Given the description of an element on the screen output the (x, y) to click on. 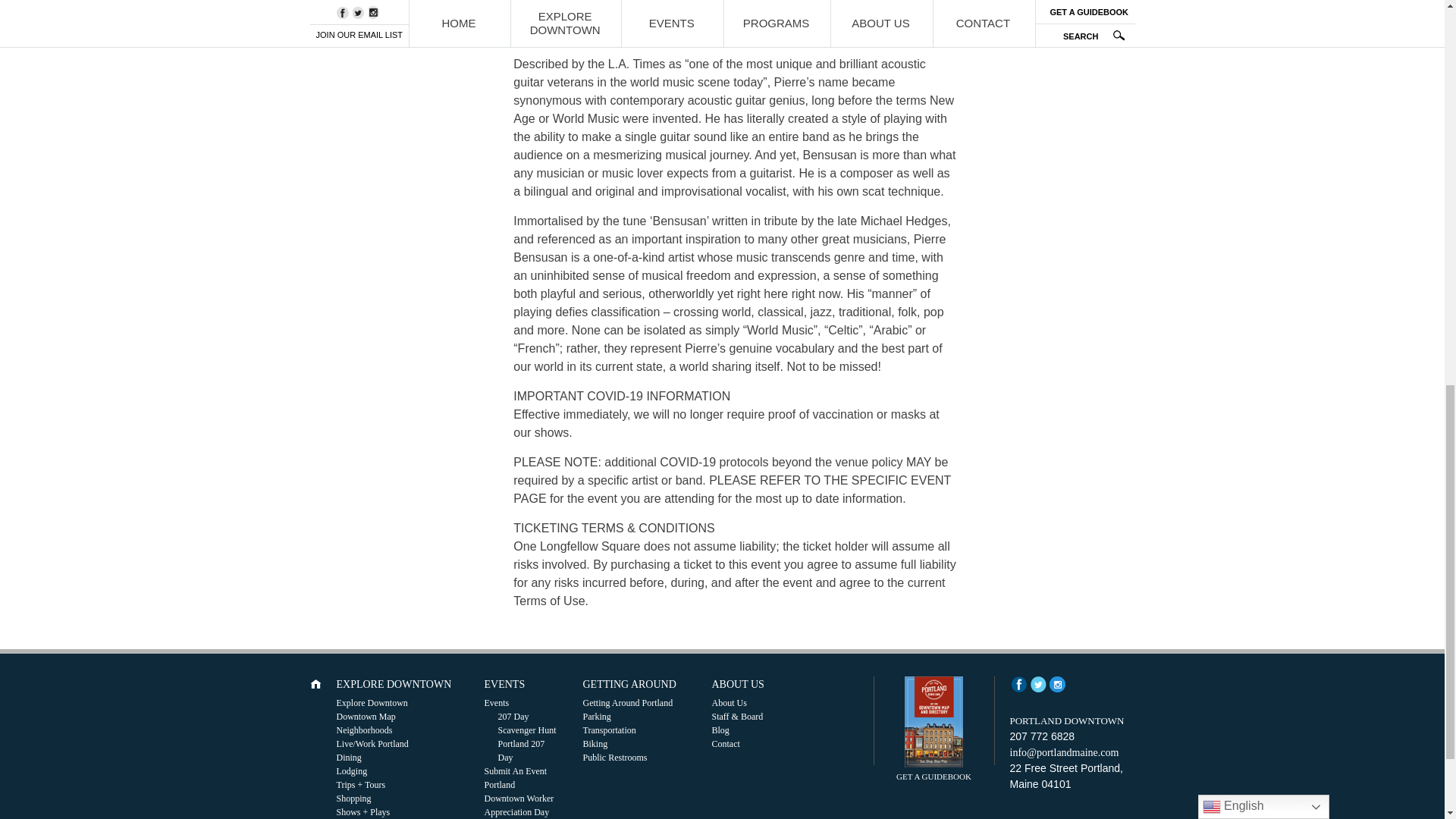
twitter (1037, 684)
Facebook (1019, 684)
